Given the description of an element on the screen output the (x, y) to click on. 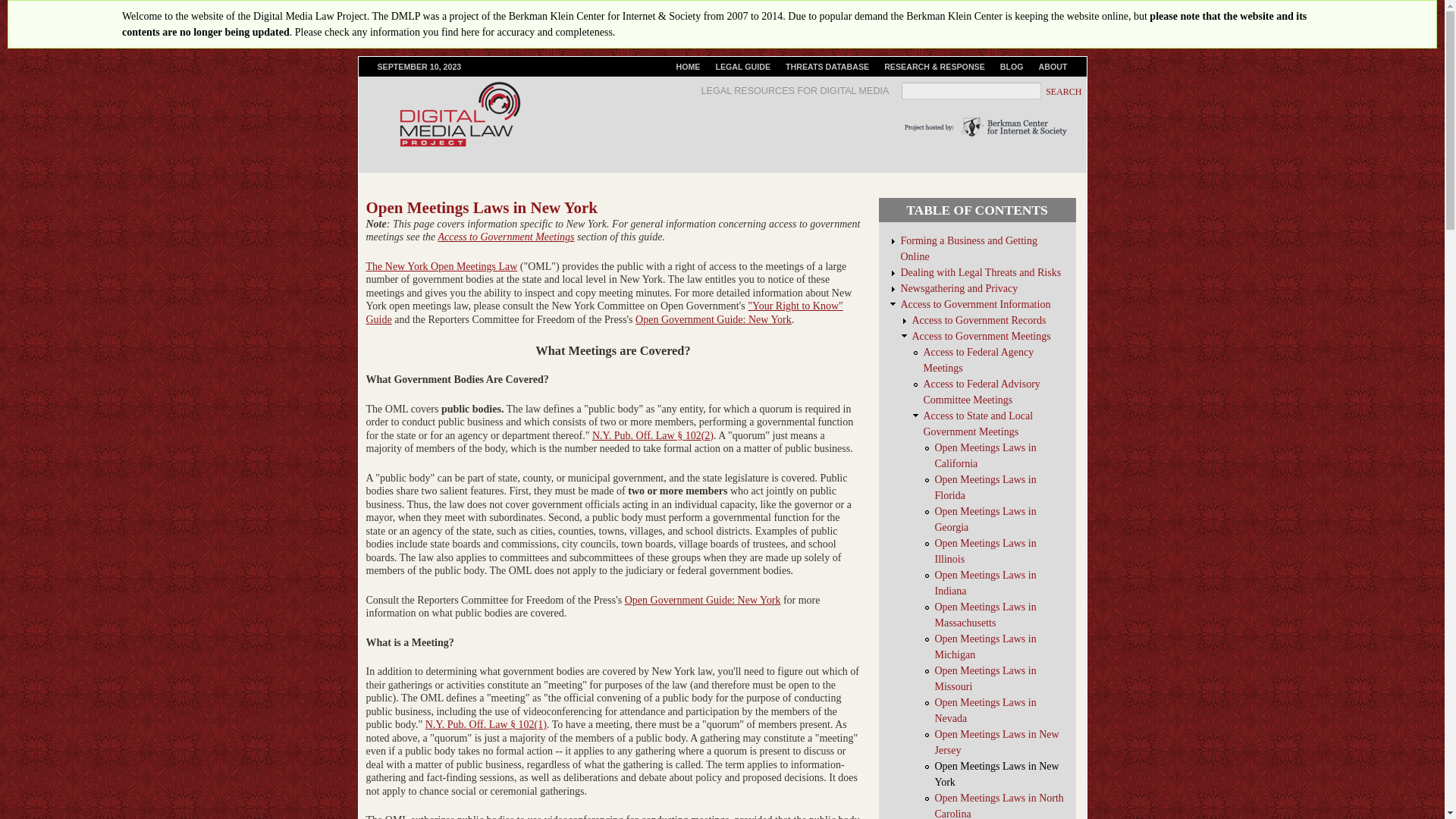
Search (1064, 91)
ABOUT (1052, 66)
Access to Government Information (976, 304)
Dealing with Legal Threats and Risks (981, 272)
LEGAL GUIDE (742, 66)
HOME (687, 66)
THREATS DATABASE (826, 66)
Open Government Guide: New York (702, 600)
Access to Government Meetings (980, 336)
Access to Government Meetings (506, 236)
Newsgathering and Privacy (959, 288)
Access to Government Records (978, 319)
Digital Media Law Project Home Page (687, 66)
Open Government Guide: New York (713, 319)
